Given the description of an element on the screen output the (x, y) to click on. 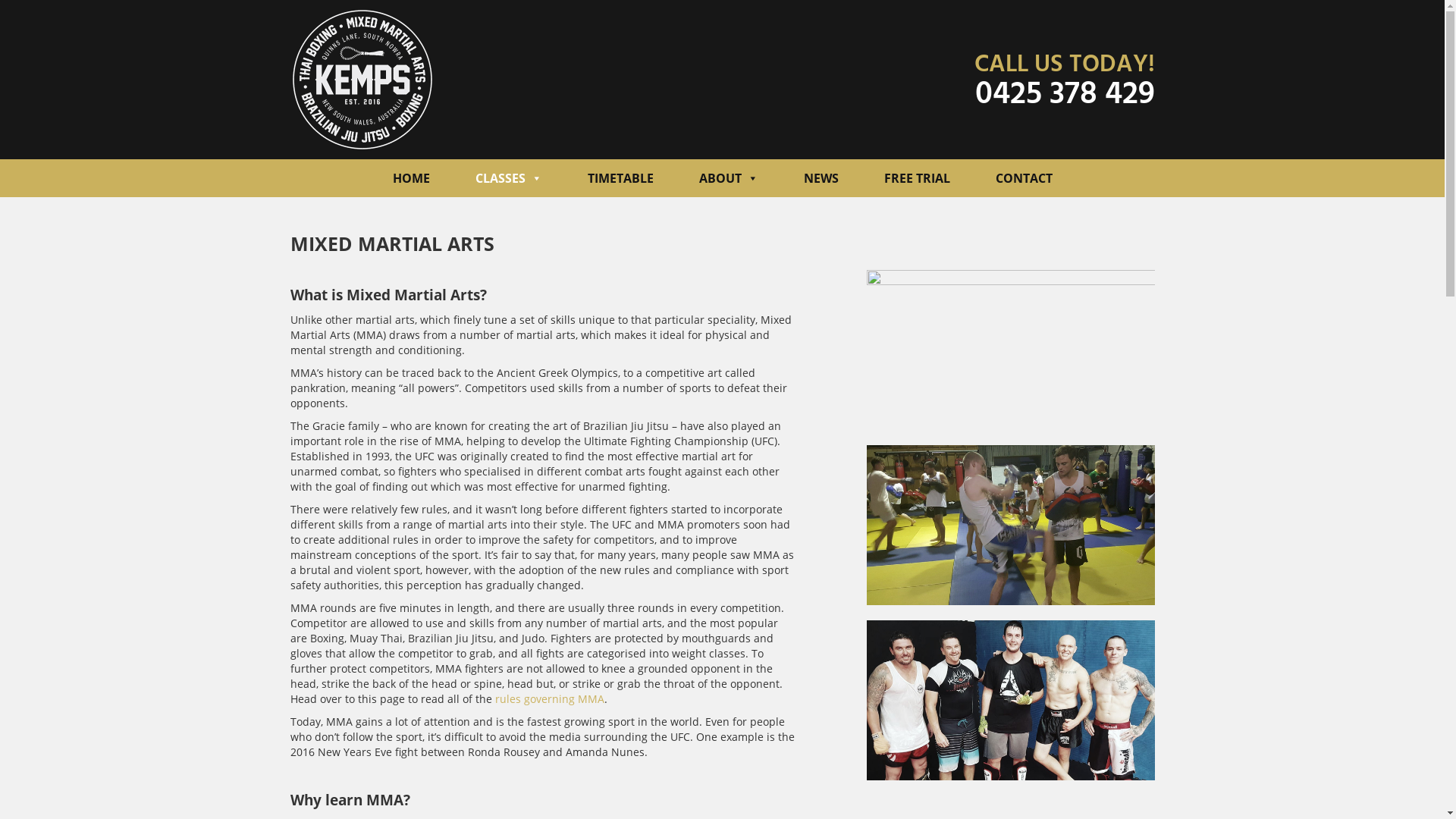
TIMETABLE Element type: text (619, 178)
CONTACT Element type: text (1023, 178)
NEWS Element type: text (821, 178)
FREE TRIAL Element type: text (916, 178)
rules governing MMA Element type: text (548, 698)
ABOUT Element type: text (728, 178)
HOME Element type: text (411, 178)
CLASSES Element type: text (507, 178)
